Given the description of an element on the screen output the (x, y) to click on. 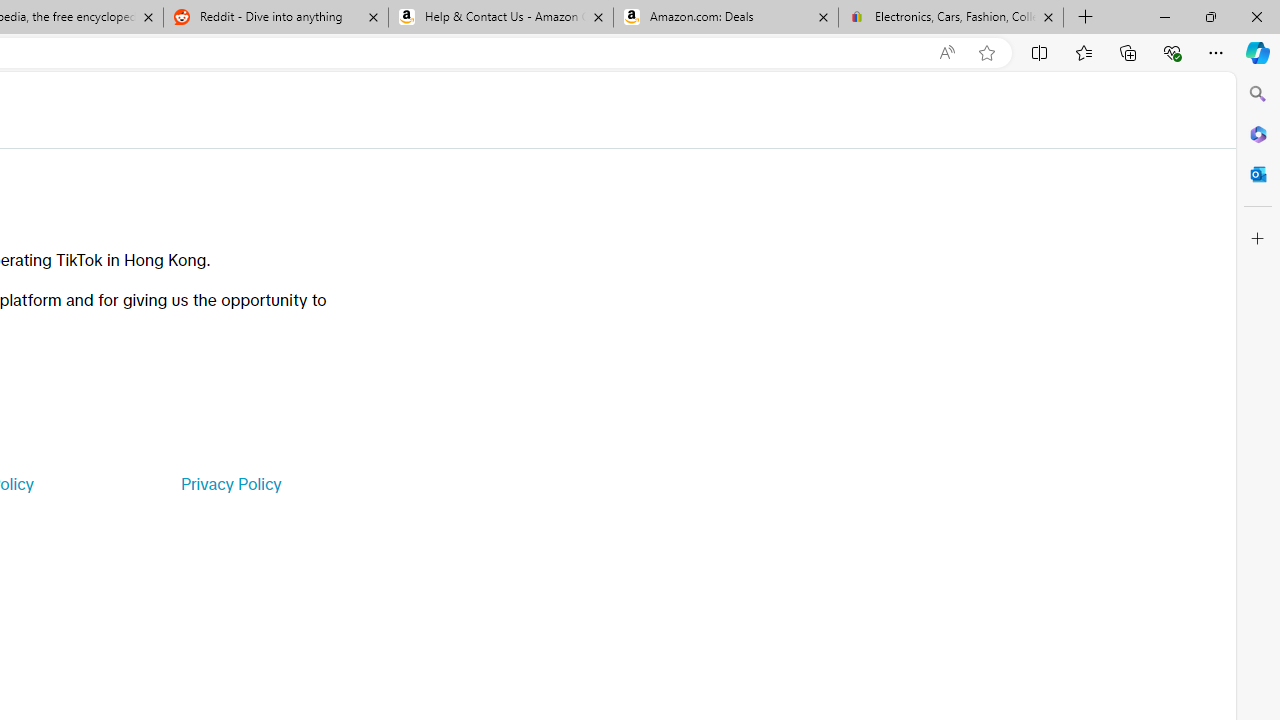
Amazon.com: Deals (726, 17)
Privacy Policy (230, 484)
